Given the description of an element on the screen output the (x, y) to click on. 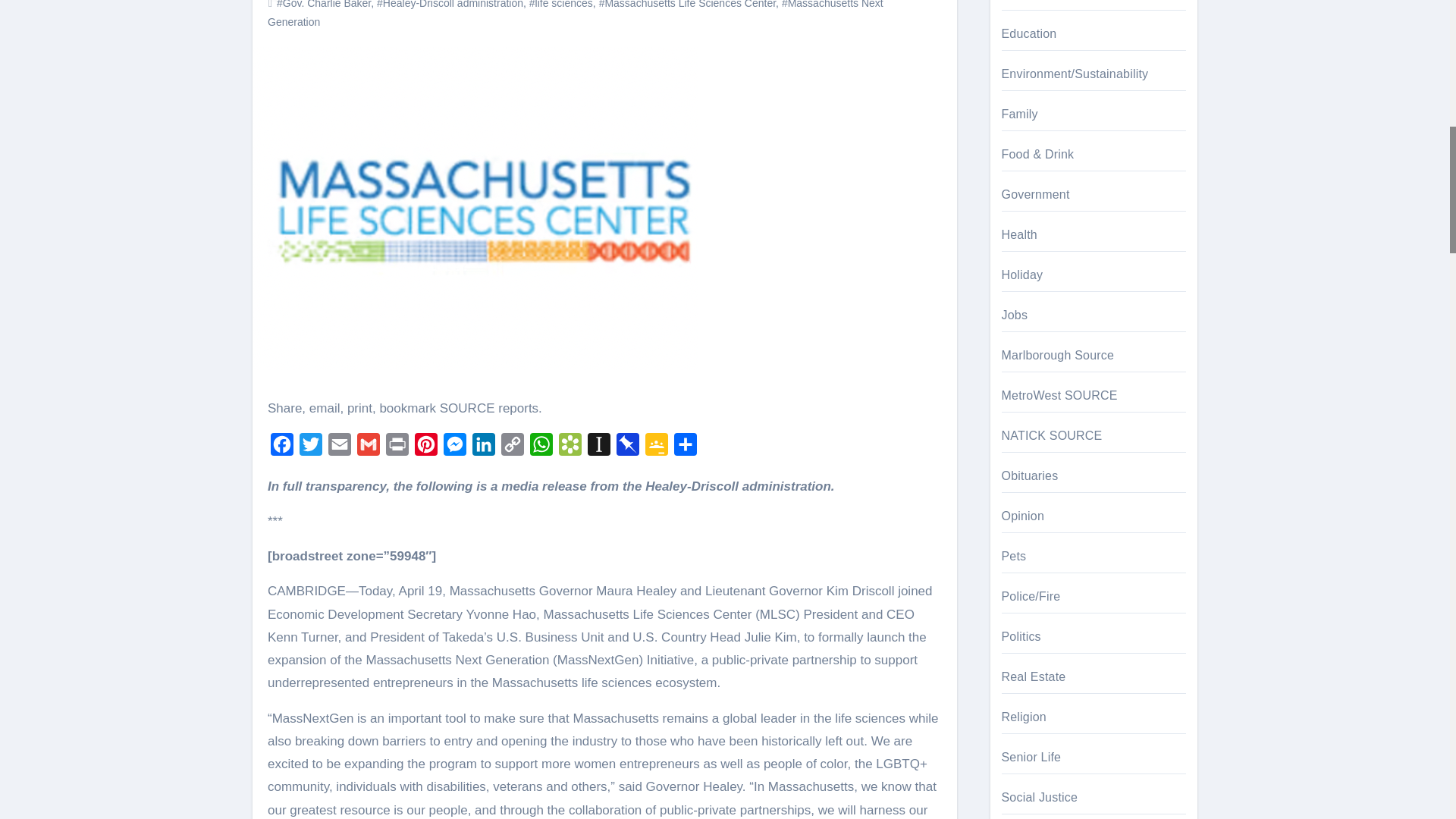
Facebook (282, 448)
Twitter (310, 448)
Facebook (282, 448)
Twitter (310, 448)
